Given the description of an element on the screen output the (x, y) to click on. 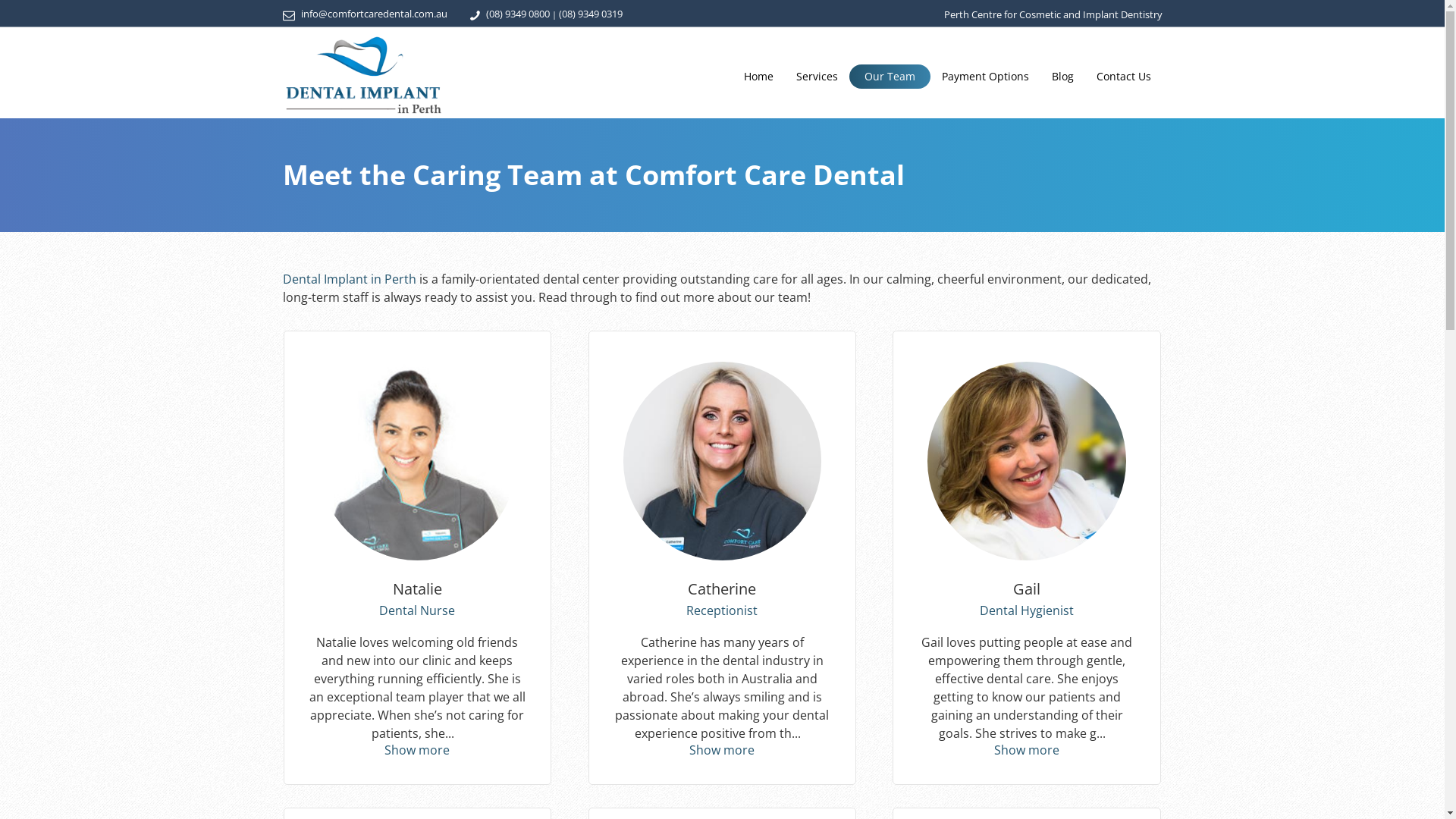
Show more Element type: text (1026, 749)
(08) 9349 0319 Element type: text (589, 12)
Gail Element type: hover (1026, 460)
Catherine Element type: hover (722, 460)
Contact Us Element type: text (1123, 76)
Payment Options Element type: text (985, 76)
Show more Element type: text (722, 749)
Blog Element type: text (1062, 76)
Our Team Element type: text (889, 76)
Services Element type: text (816, 76)
Show more Element type: text (417, 749)
Dental Implant in Perth Element type: text (349, 278)
Natalie Element type: hover (417, 460)
(08) 9349 0800 Element type: text (517, 12)
info@comfortcaredental.com.au Element type: text (373, 12)
Home Element type: text (757, 76)
